Given the description of an element on the screen output the (x, y) to click on. 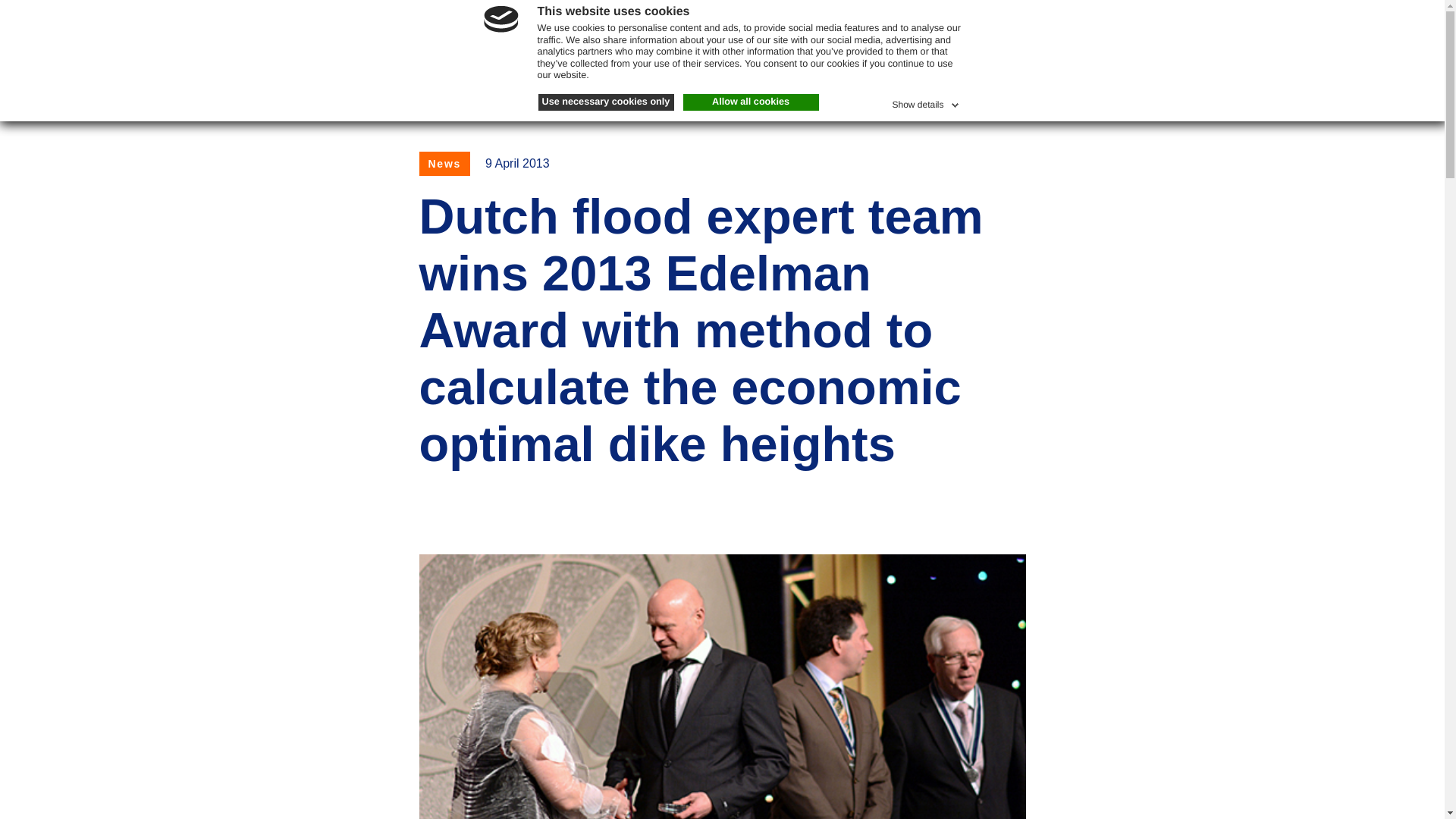
Show details (925, 102)
Allow all cookies (750, 102)
Use necessary cookies only (606, 102)
